Given the description of an element on the screen output the (x, y) to click on. 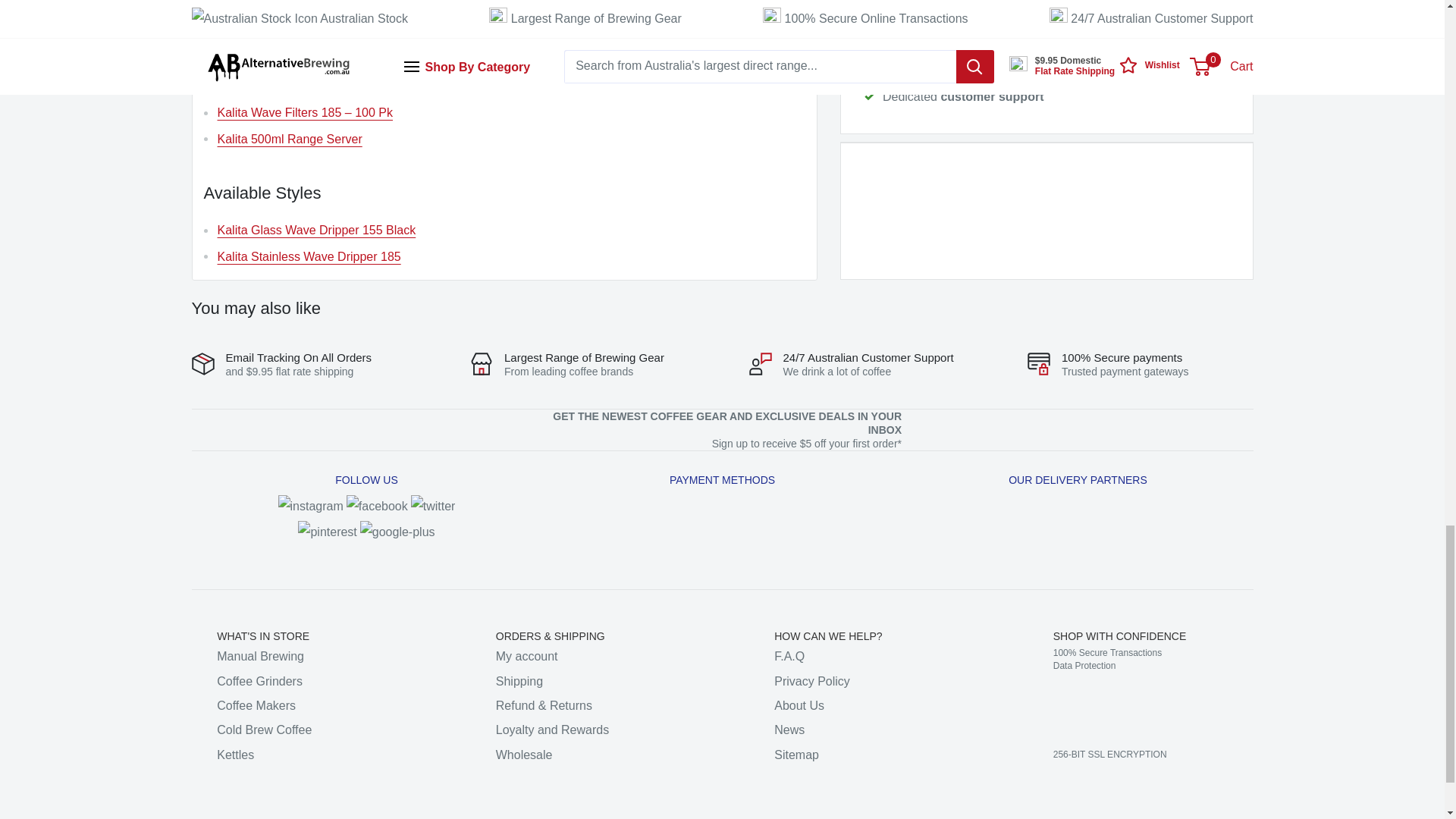
YouTube (397, 531)
Twitter (432, 505)
Instagram (310, 505)
Facebook (376, 505)
Pinterest (327, 531)
